Given the description of an element on the screen output the (x, y) to click on. 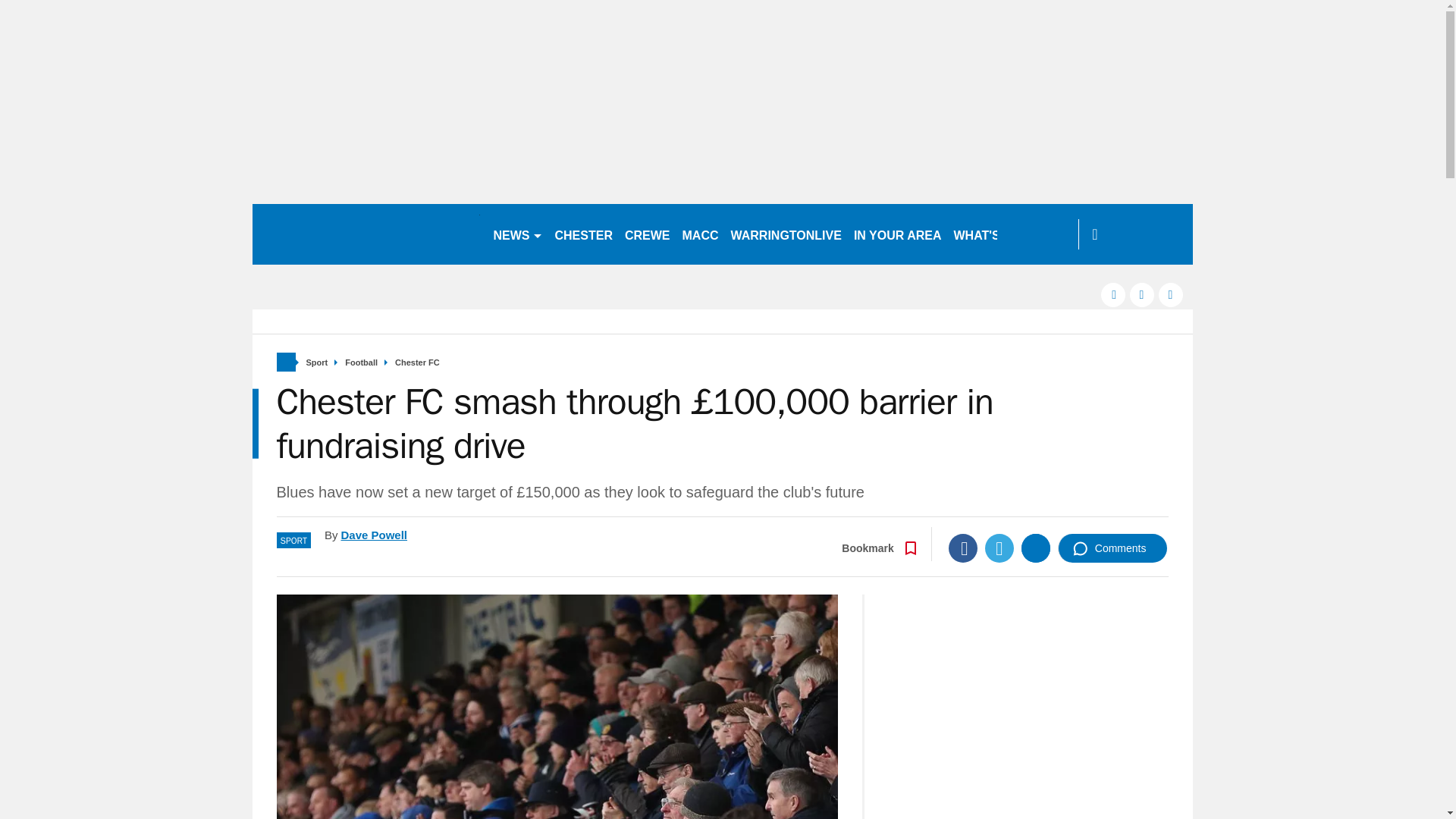
WARRINGTONLIVE (786, 233)
CHESTER (583, 233)
instagram (1170, 294)
WHAT'S ON (994, 233)
twitter (1141, 294)
chesterchronicle (365, 233)
IN YOUR AREA (897, 233)
Twitter (999, 547)
Comments (1112, 547)
facebook (1112, 294)
CREWE (647, 233)
Facebook (962, 547)
NEWS (517, 233)
